Given the description of an element on the screen output the (x, y) to click on. 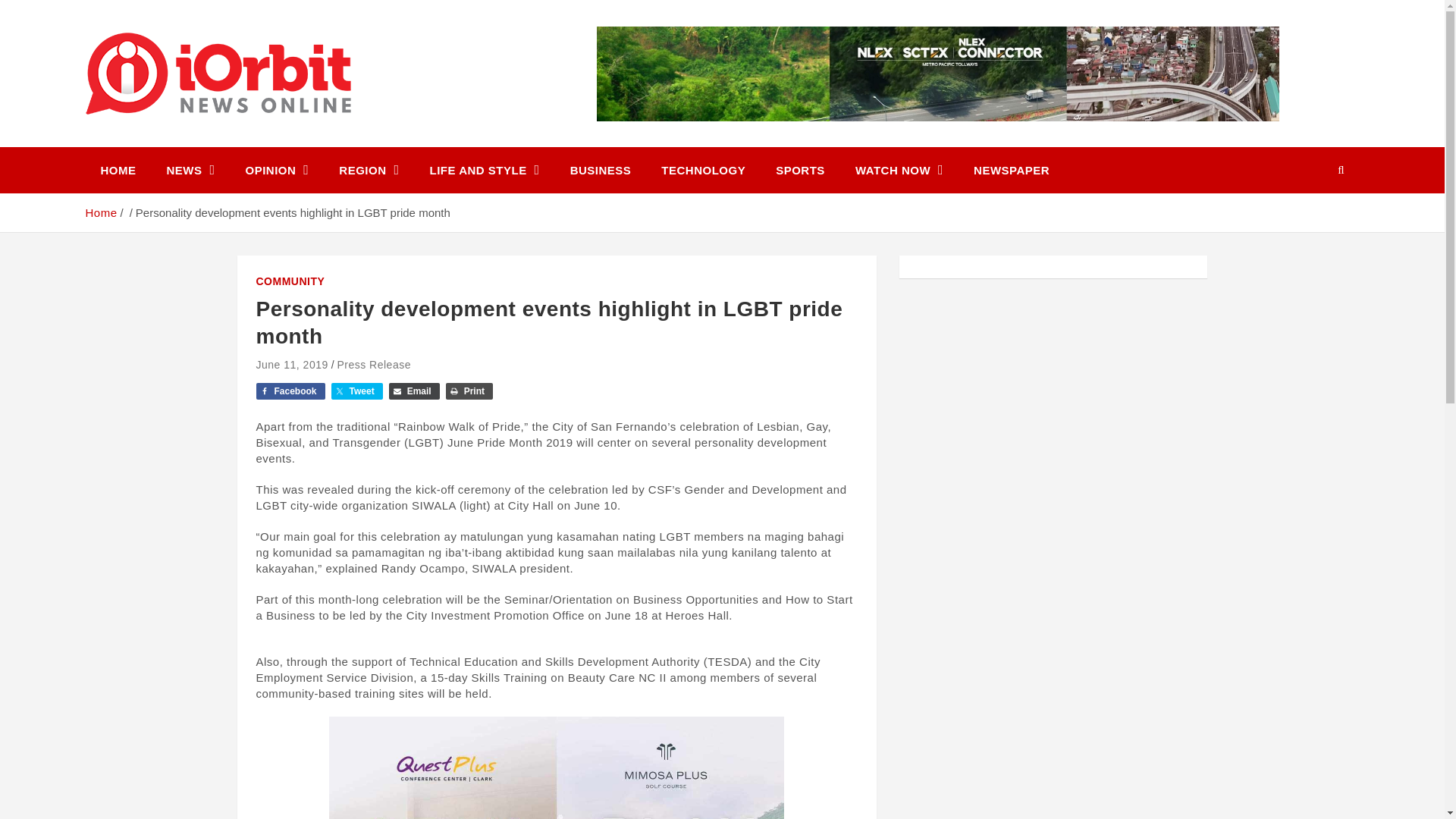
NEWS (190, 170)
Home (100, 212)
Share on Twitter (356, 391)
TECHNOLOGY (703, 170)
Email (413, 391)
REGION (368, 170)
Print this Page (469, 391)
BUSINESS (600, 170)
Share on Facebook (290, 391)
SPORTS (800, 170)
Share via Email (413, 391)
Personality development events highlight in LGBT pride month (292, 364)
HOME (117, 170)
NEWSPAPER (1011, 170)
LIFE AND STYLE (484, 170)
